Given the description of an element on the screen output the (x, y) to click on. 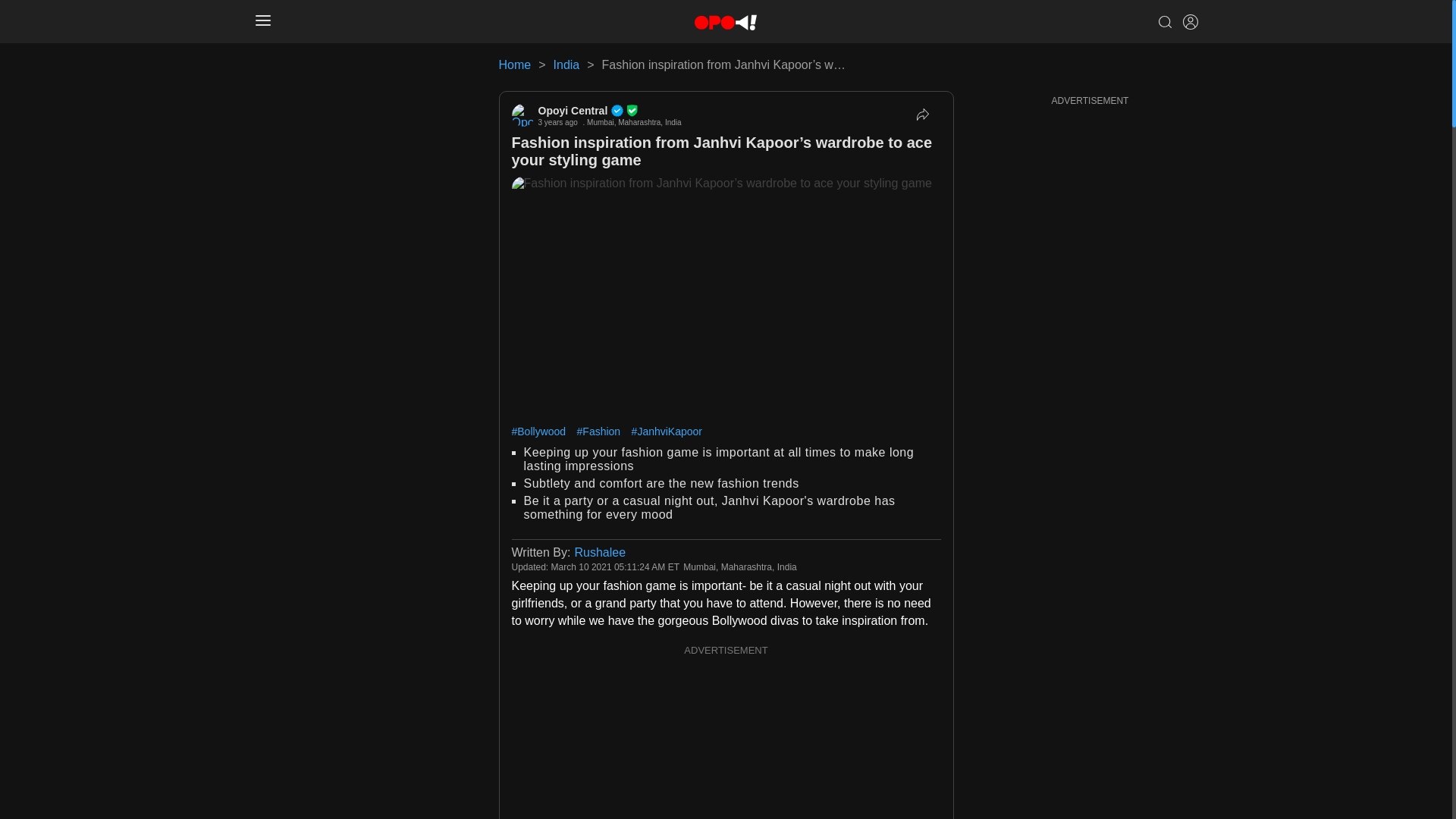
Rushalee (599, 552)
 Opoyi Central (522, 115)
Opoyi Central (609, 110)
Opoyi Central (609, 110)
India (566, 64)
Home (515, 64)
